Given the description of an element on the screen output the (x, y) to click on. 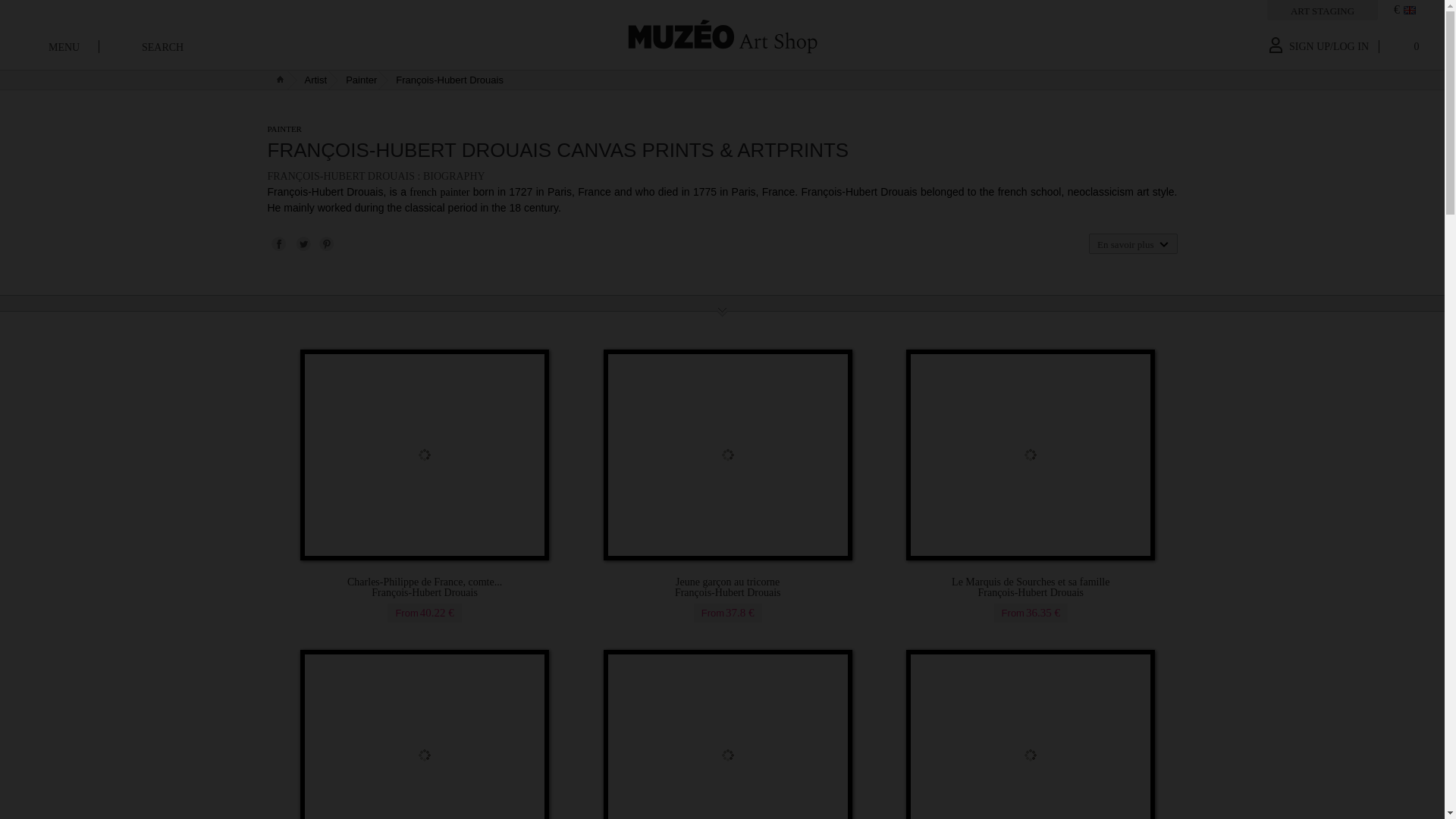
Twitter (302, 242)
Facebook (277, 242)
0 (1404, 50)
Le Marquis de Sourches et sa famille (1030, 587)
Art Staging (1321, 10)
ART STAGING (1321, 10)
Home (722, 34)
